Given the description of an element on the screen output the (x, y) to click on. 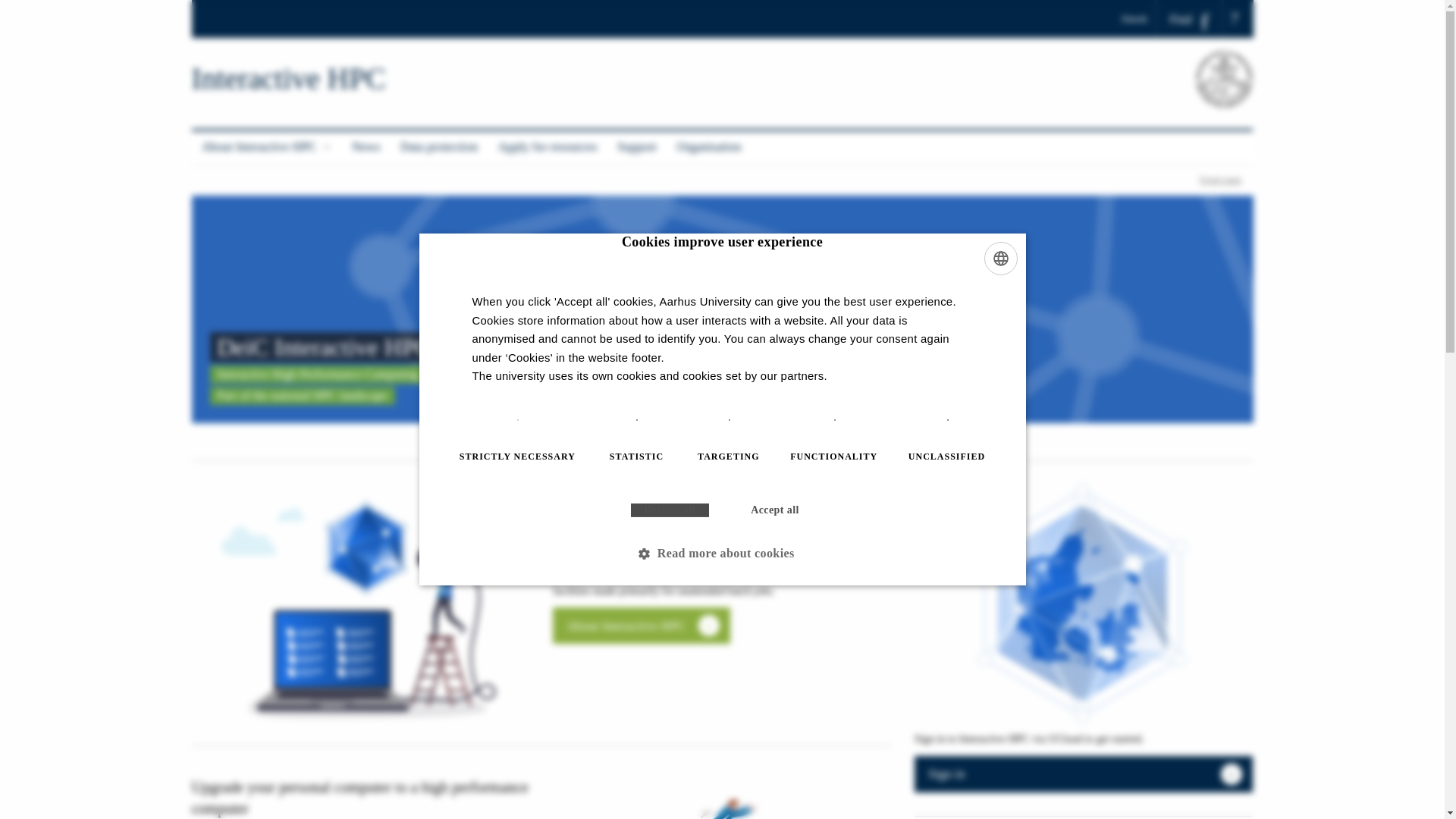
News (366, 147)
Support (636, 147)
About Interactive HPC (265, 147)
Sign in (1083, 773)
Search (17, 5)
traditional HPC facilities (710, 546)
Front page (1220, 179)
Interactive HPC (287, 78)
Apply for resources (547, 147)
Find (1189, 19)
Dansk (1139, 18)
Dansk (1139, 18)
Data protection (438, 147)
Organisation (708, 147)
About Interactive HPC (641, 625)
